Given the description of an element on the screen output the (x, y) to click on. 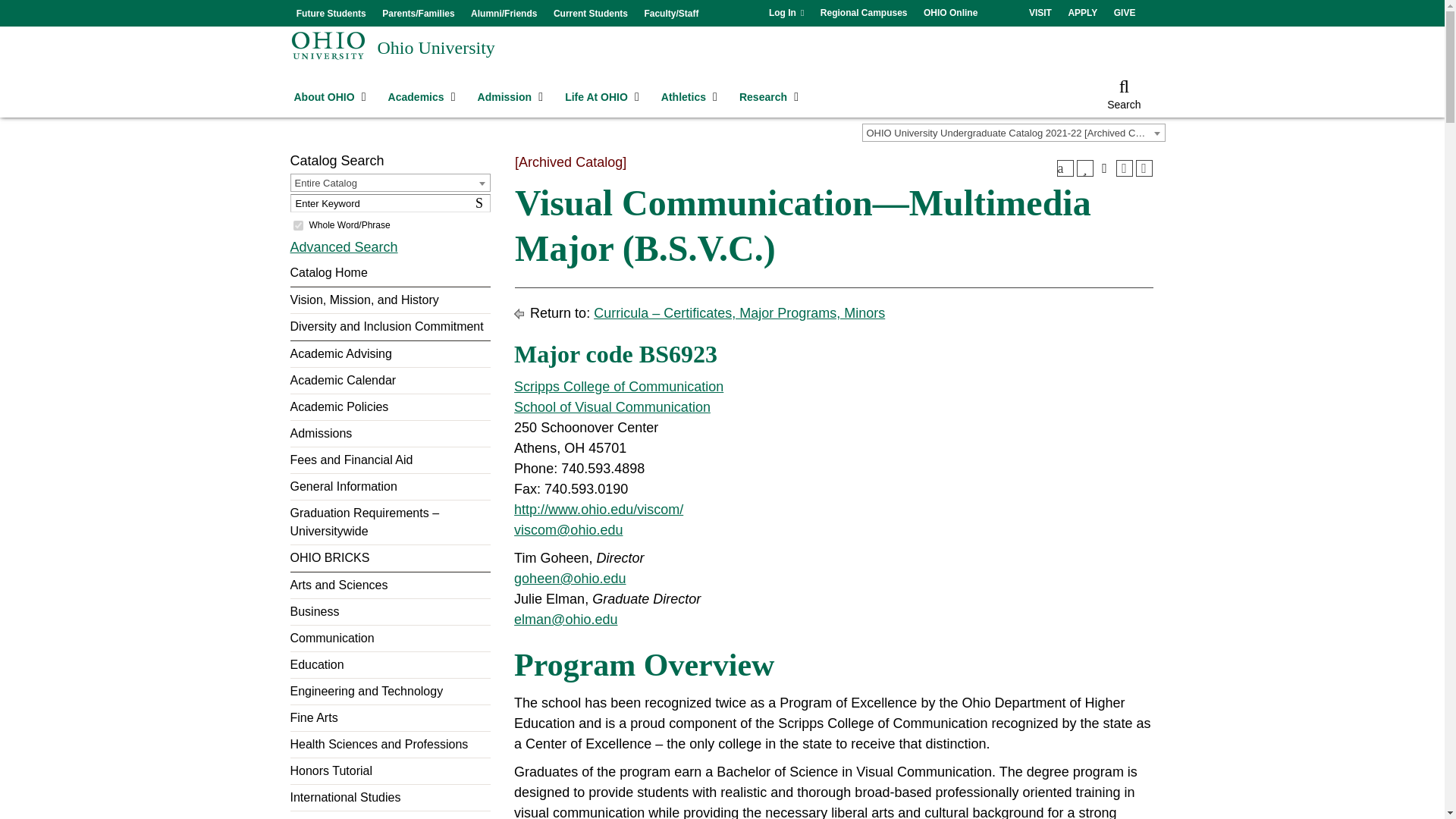
Give to OHIO University (1124, 13)
Enter Keyword   (389, 203)
APPLY (1082, 13)
About OHIO (327, 97)
Entire Catalog (390, 183)
1 (297, 225)
Current Students (590, 13)
OHIO Online (950, 13)
Ohio University (436, 47)
